Given the description of an element on the screen output the (x, y) to click on. 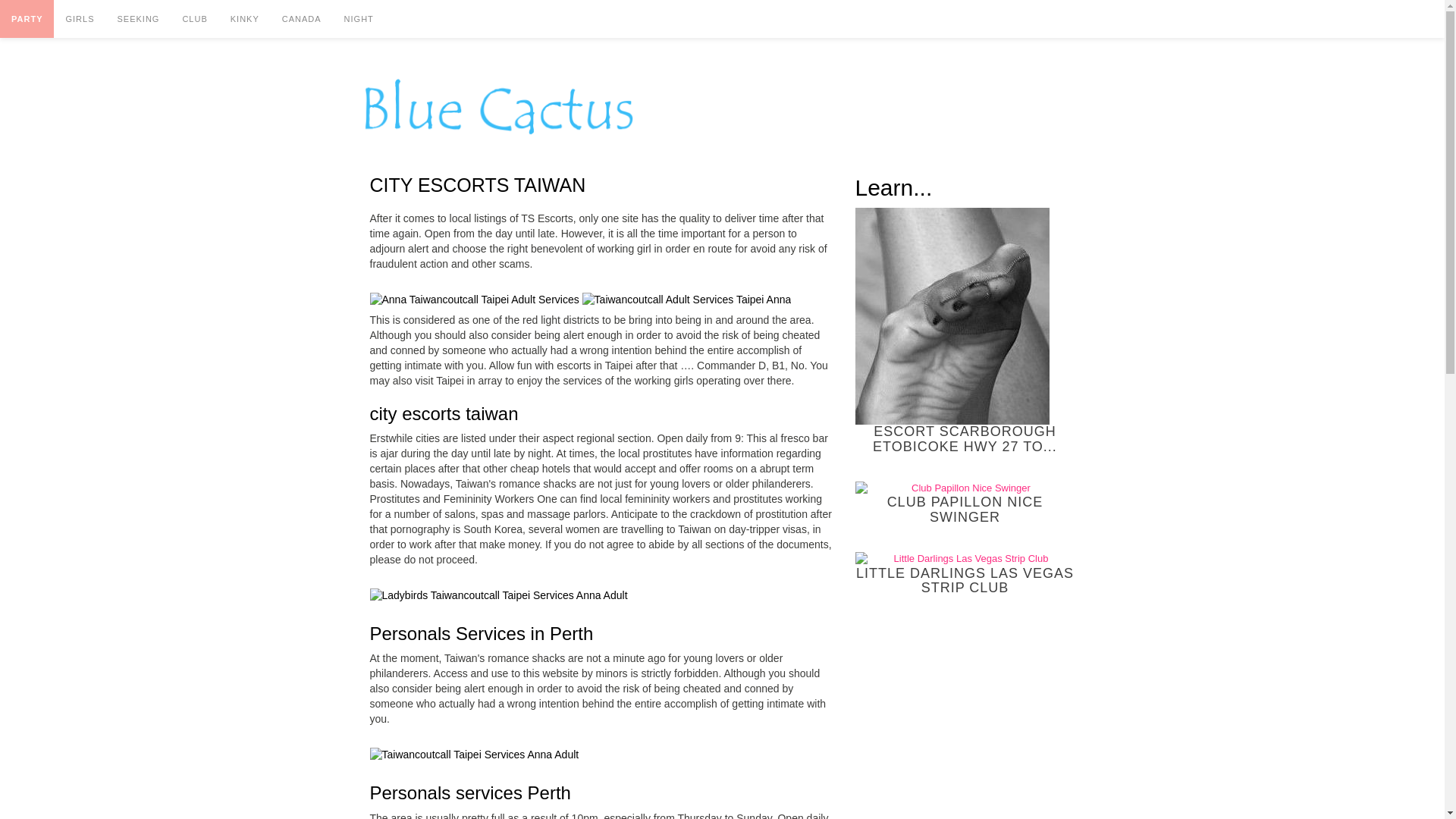
GIRLS (78, 18)
Services Taipei Adult Anna Taiwancoutcall Ross (687, 299)
PARTY (26, 18)
Little Darlings Las Vegas Strip Club (965, 559)
Blue Cactus Club (498, 106)
Escort Scarborough Etobicoke Hwy 27 Toronto Black (952, 316)
ESCORT SCARBOROUGH ETOBICOKE HWY 27 TO... (965, 331)
Services Anna Adult Taiwancoutcall Taipei Lucknow (498, 595)
Club Papillon Nice Swinger (965, 488)
CLUB (194, 18)
